Given the description of an element on the screen output the (x, y) to click on. 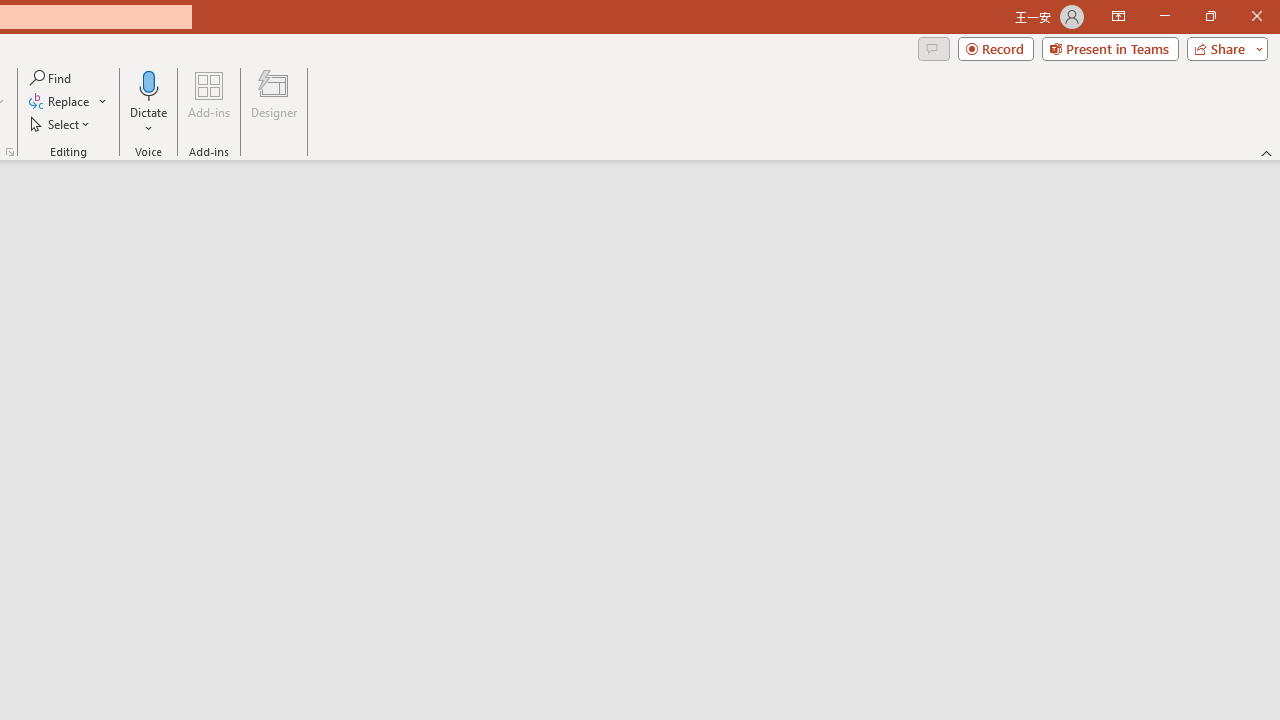
Find... (51, 78)
Select (61, 124)
Share (1223, 48)
Present in Teams (1109, 48)
Close (1256, 16)
